Given the description of an element on the screen output the (x, y) to click on. 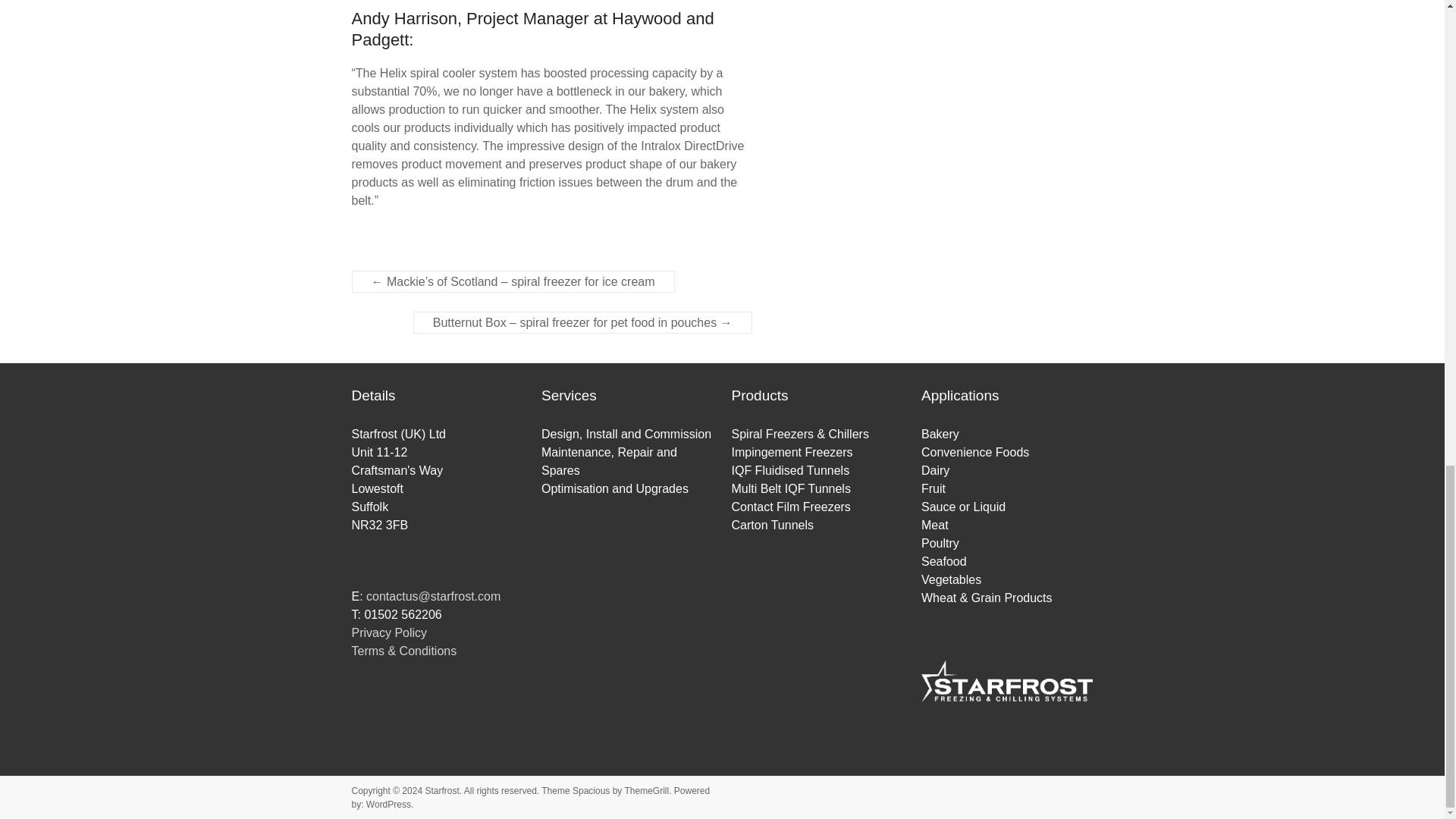
Starfrost (441, 790)
Spacious (591, 790)
WordPress (388, 804)
Privacy Policy (390, 632)
Spacious (591, 790)
Starfrost (441, 790)
WordPress (388, 804)
